Given the description of an element on the screen output the (x, y) to click on. 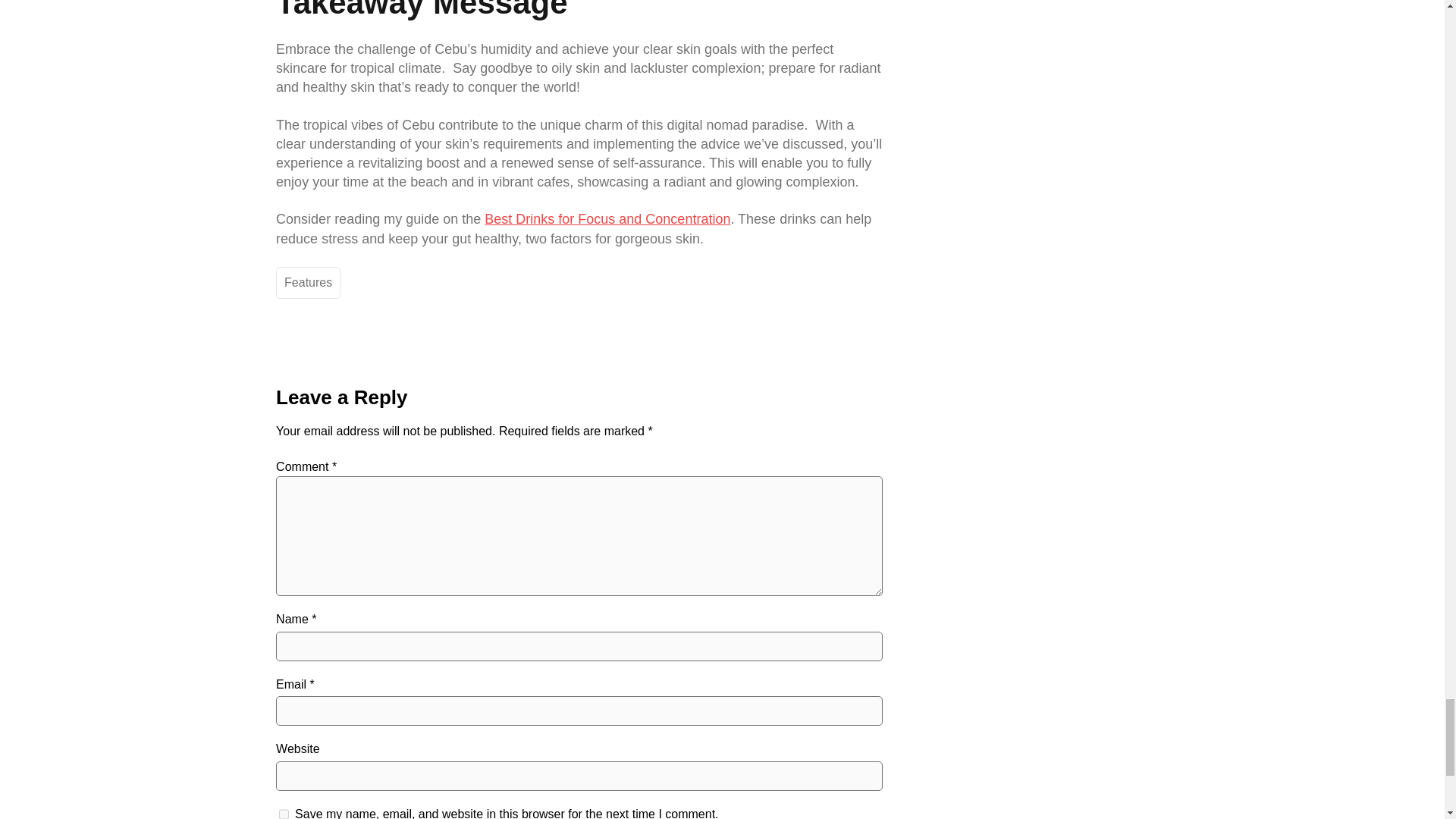
yes (283, 813)
Best Drinks for Focus and Concentration (607, 218)
